Given the description of an element on the screen output the (x, y) to click on. 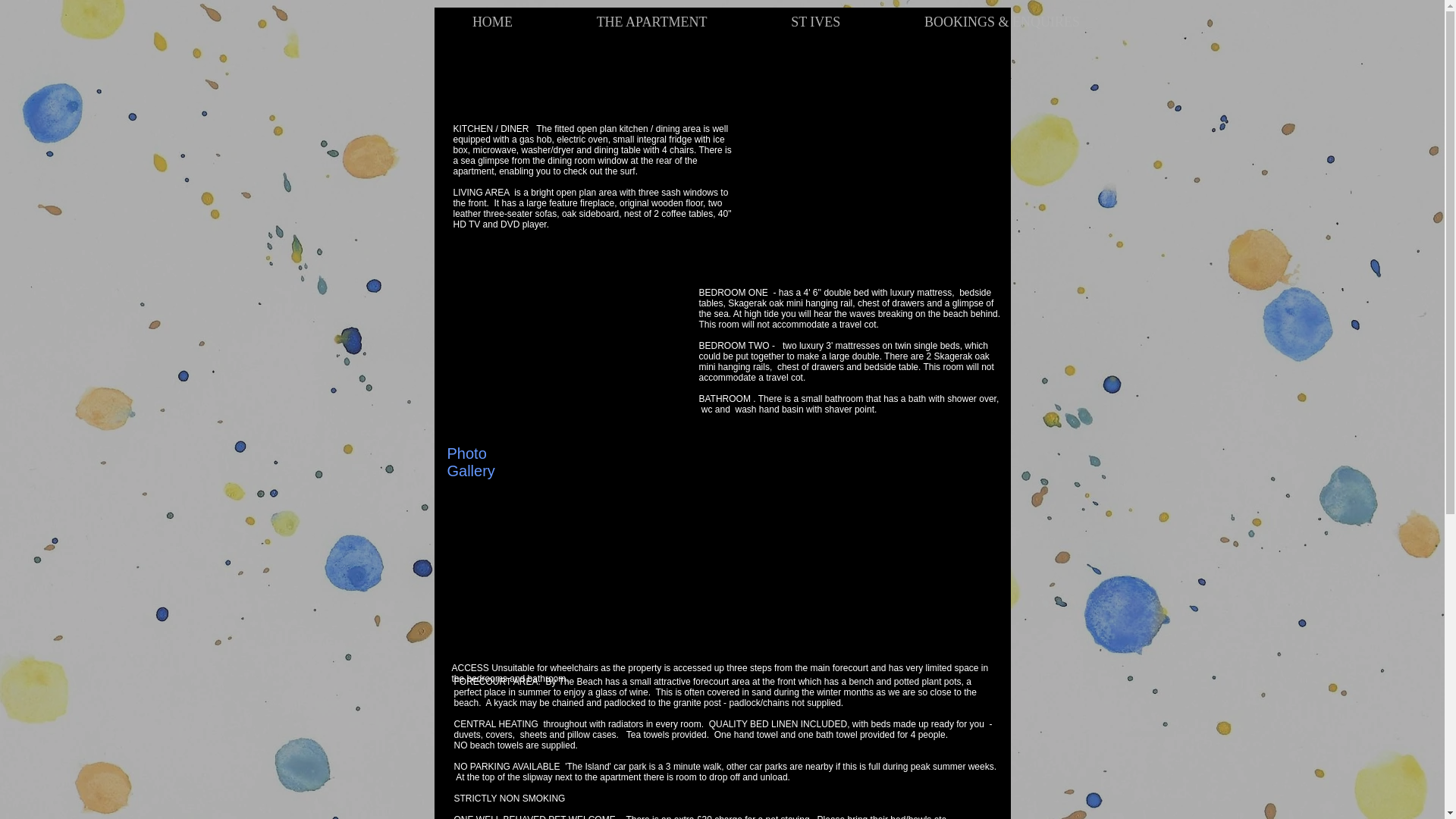
HOME (492, 22)
THE APARTMENT (651, 22)
ST IVES (815, 22)
